Given the description of an element on the screen output the (x, y) to click on. 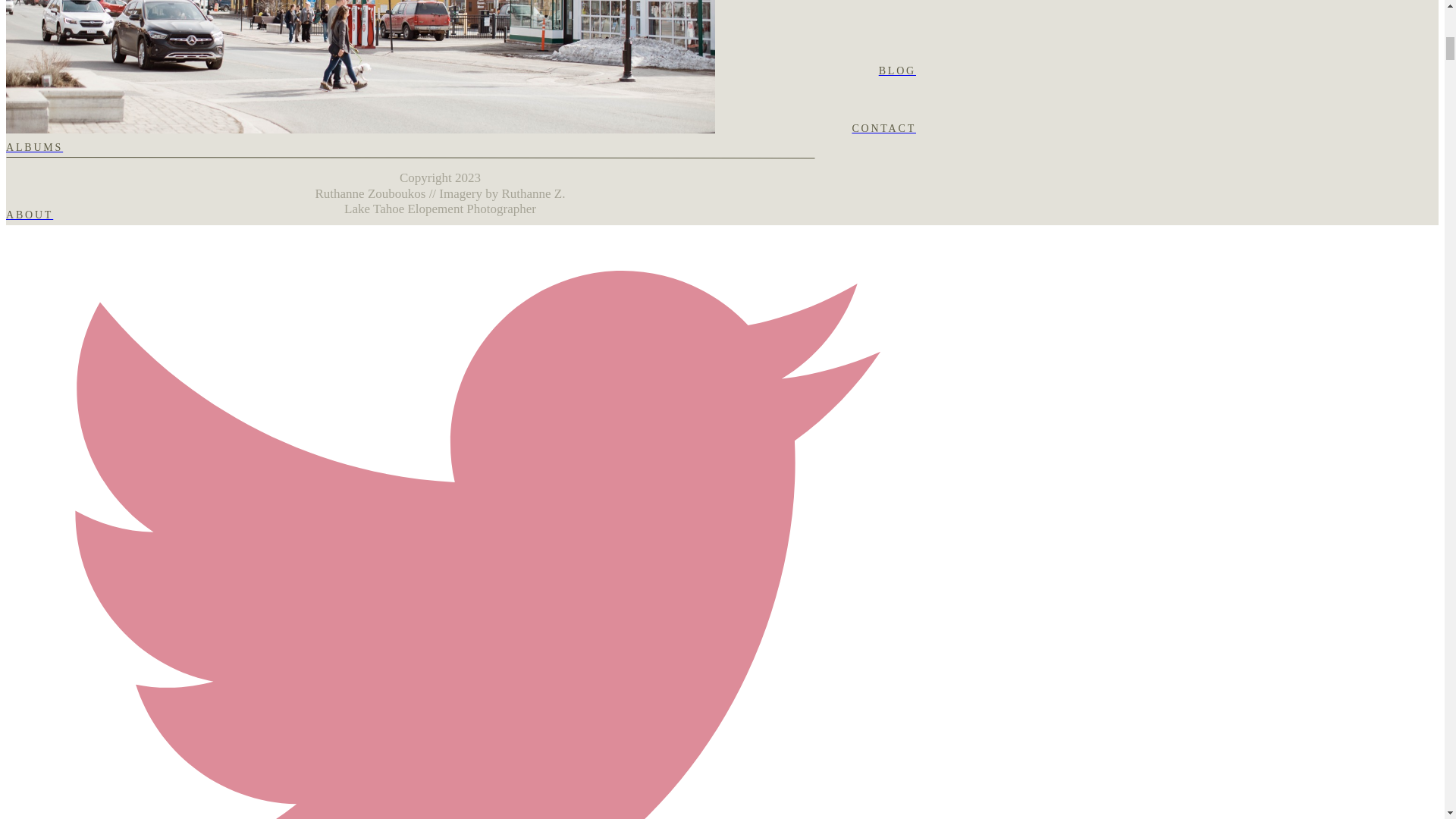
EDUCATION (460, 90)
Post Comment (44, 26)
BLOG (460, 70)
yes (13, 2)
THE ELOPEMENT PODCAST (460, 51)
Post Comment (44, 26)
ABOUT (460, 214)
ALBUMS (460, 147)
CONTACT (460, 128)
